Given the description of an element on the screen output the (x, y) to click on. 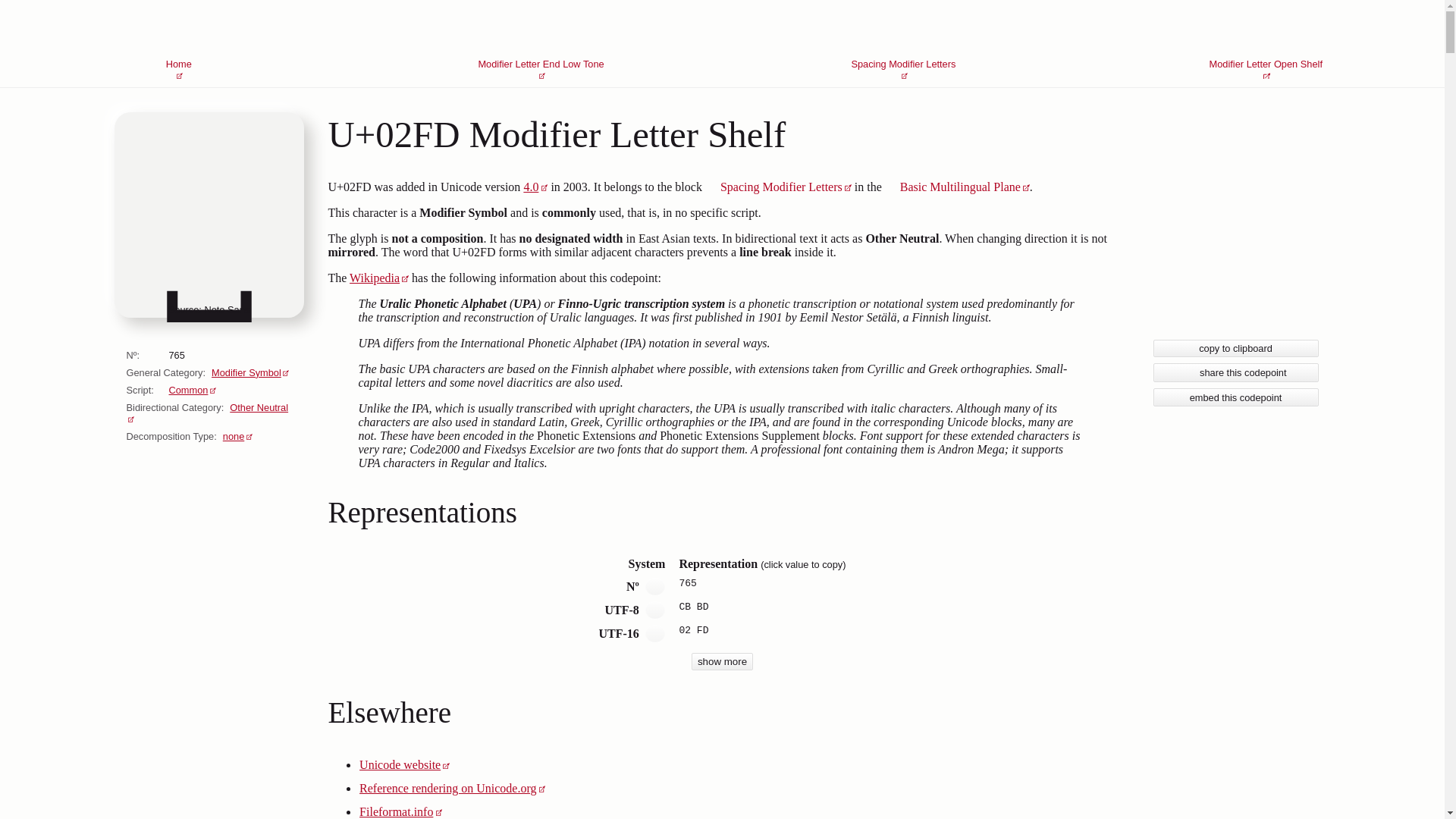
Spacing Modifier Letters (777, 186)
share this codepoint (1235, 372)
4.0 (534, 186)
copy to clipboard (1235, 348)
none (236, 436)
Other Neutral (206, 413)
embed this codepoint (1235, 396)
remove from favorites (655, 633)
remove from favorites (178, 40)
Wikipedia (655, 610)
Modifier Symbol (379, 277)
Spacing Modifier Letters (249, 372)
remove from favorites (903, 40)
Common (655, 586)
